Given the description of an element on the screen output the (x, y) to click on. 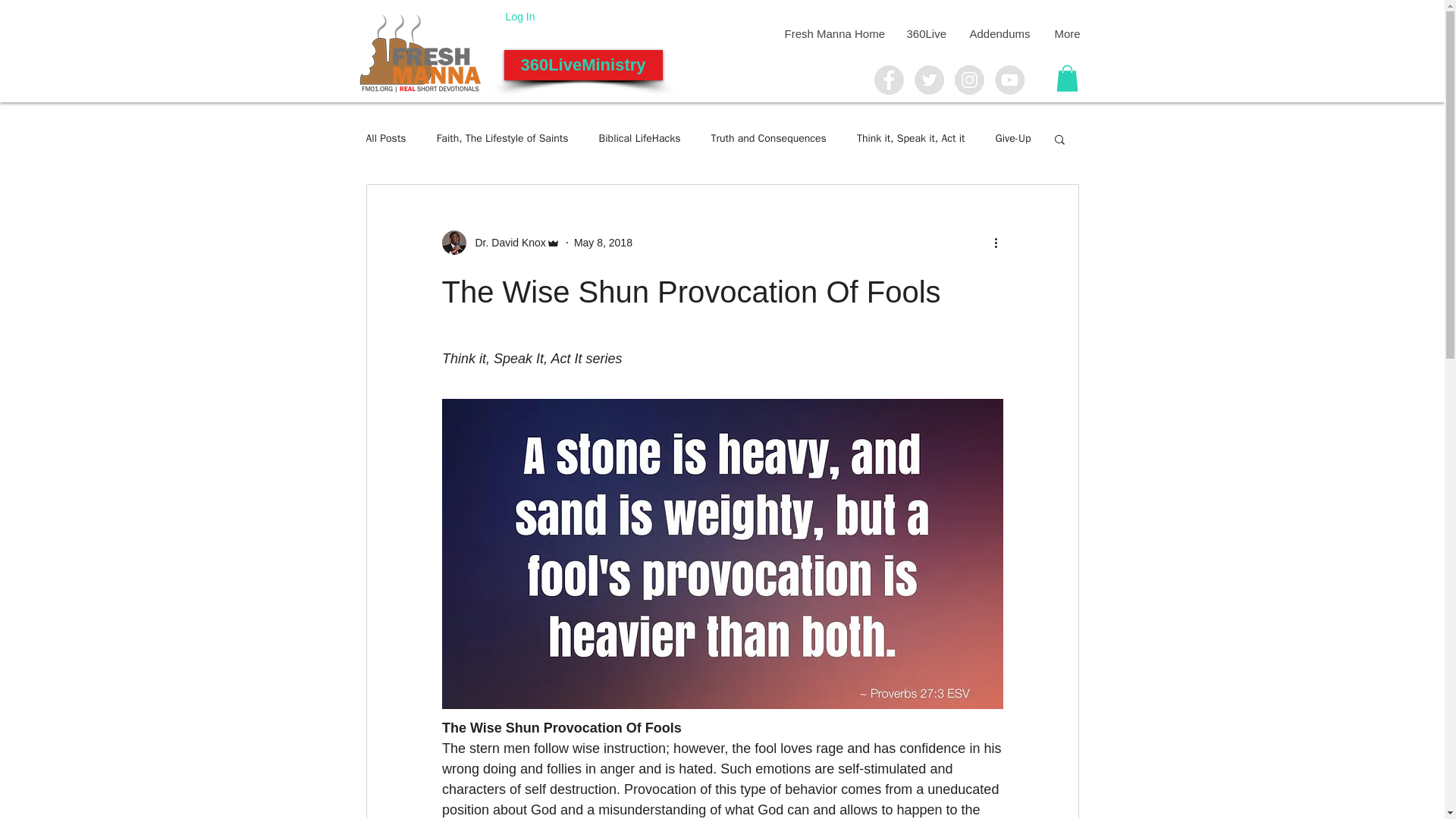
Log In (520, 15)
Think it, Speak it, Act it (911, 138)
Dr. David Knox (504, 242)
Biblical LifeHacks (639, 138)
Addendums (999, 33)
All Posts (385, 138)
Truth and Consequences (769, 138)
360LiveMinistry (582, 64)
Fresh Manna Home (832, 33)
Faith, The Lifestyle of Saints (502, 138)
360Live (925, 33)
Give-Up (1012, 138)
May 8, 2018 (602, 242)
